Given the description of an element on the screen output the (x, y) to click on. 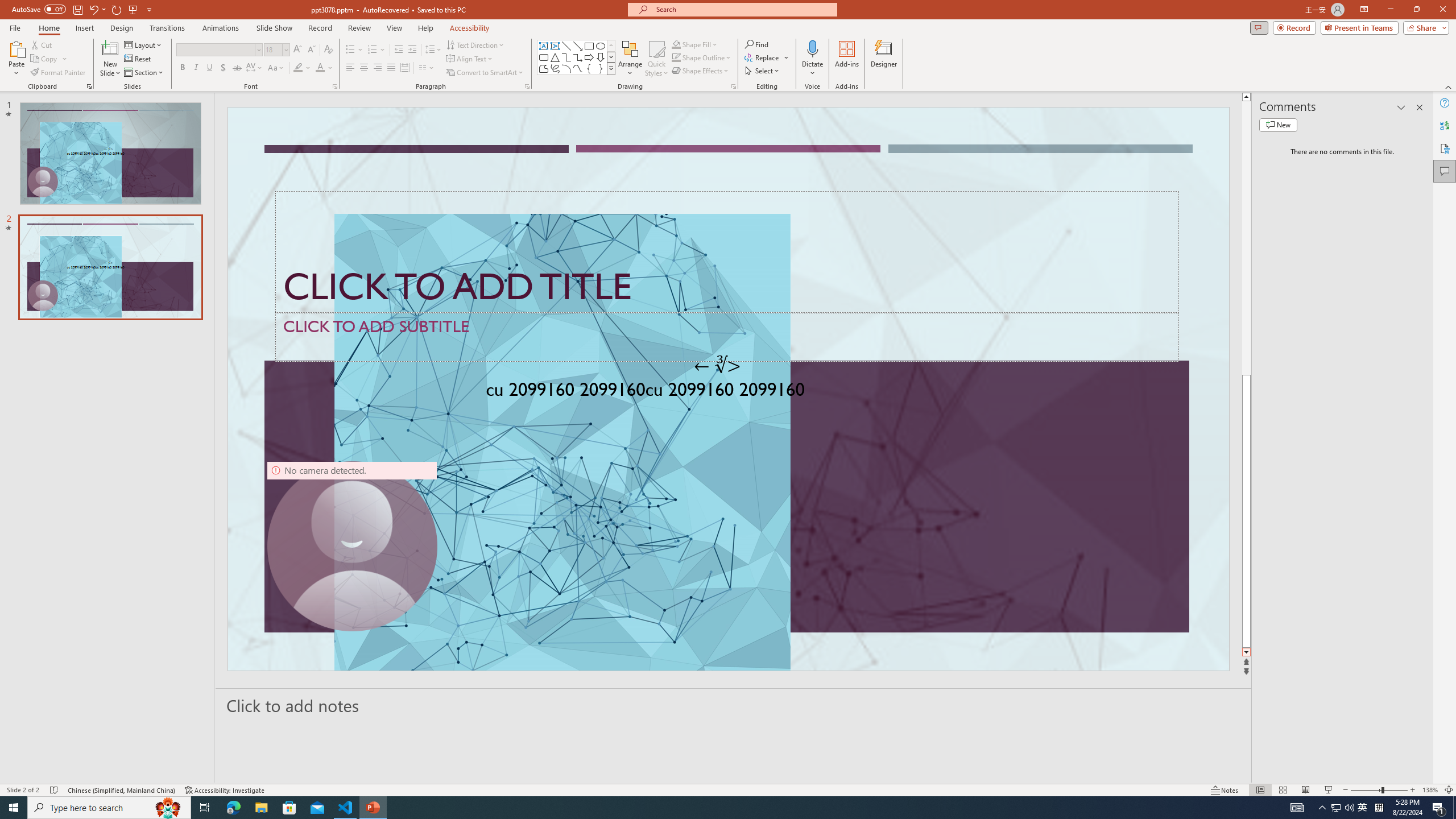
TextBox 61 (726, 391)
